Given the description of an element on the screen output the (x, y) to click on. 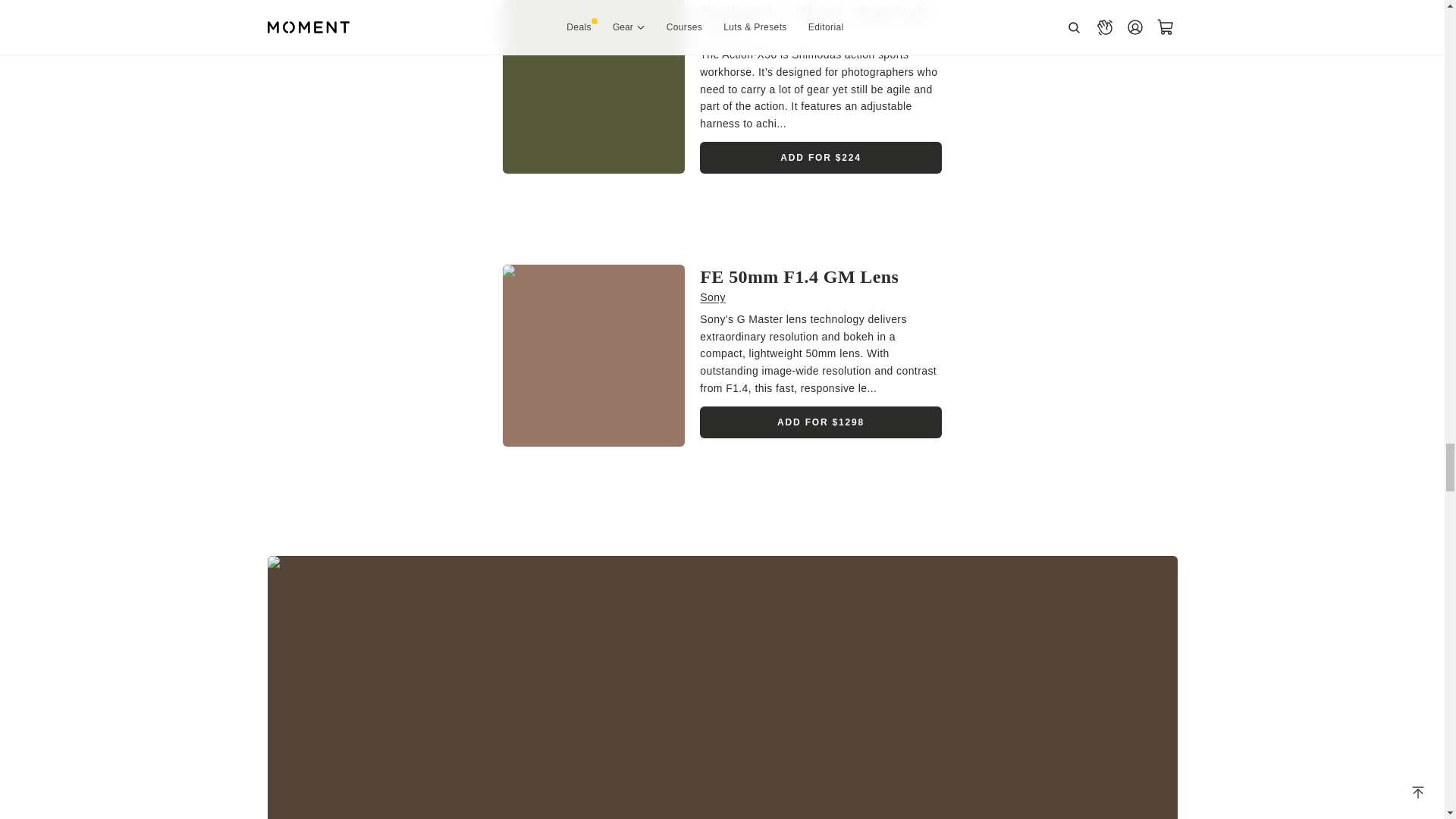
Shimoda (722, 32)
Sony (712, 297)
FE 50mm F1.4 GM Lens (799, 276)
